Given the description of an element on the screen output the (x, y) to click on. 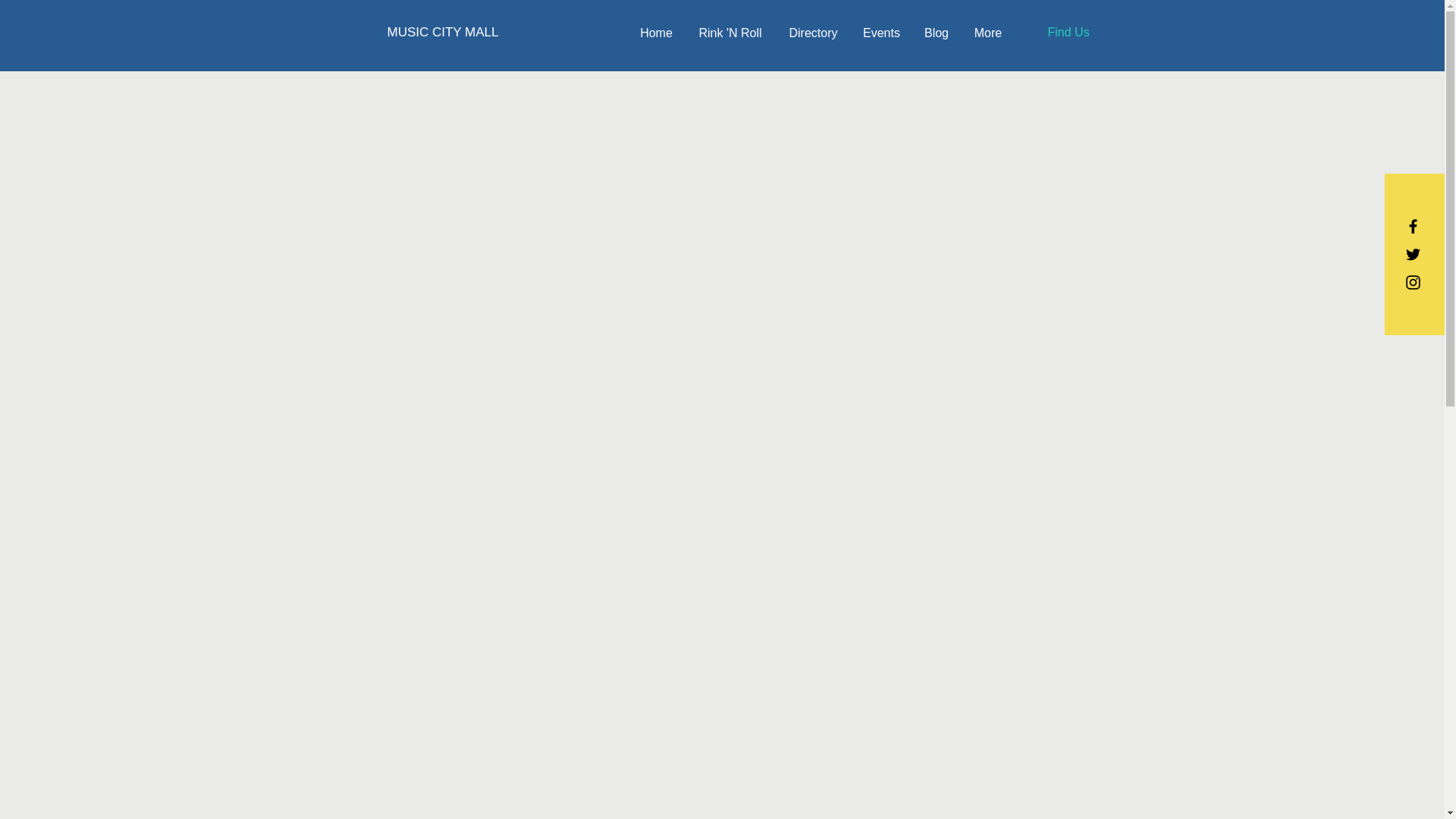
Find Us (1068, 31)
Rink 'N Roll (729, 33)
Blog (936, 33)
Home (655, 33)
Events (881, 33)
MUSIC CITY MALL (442, 32)
Directory (813, 33)
